Given the description of an element on the screen output the (x, y) to click on. 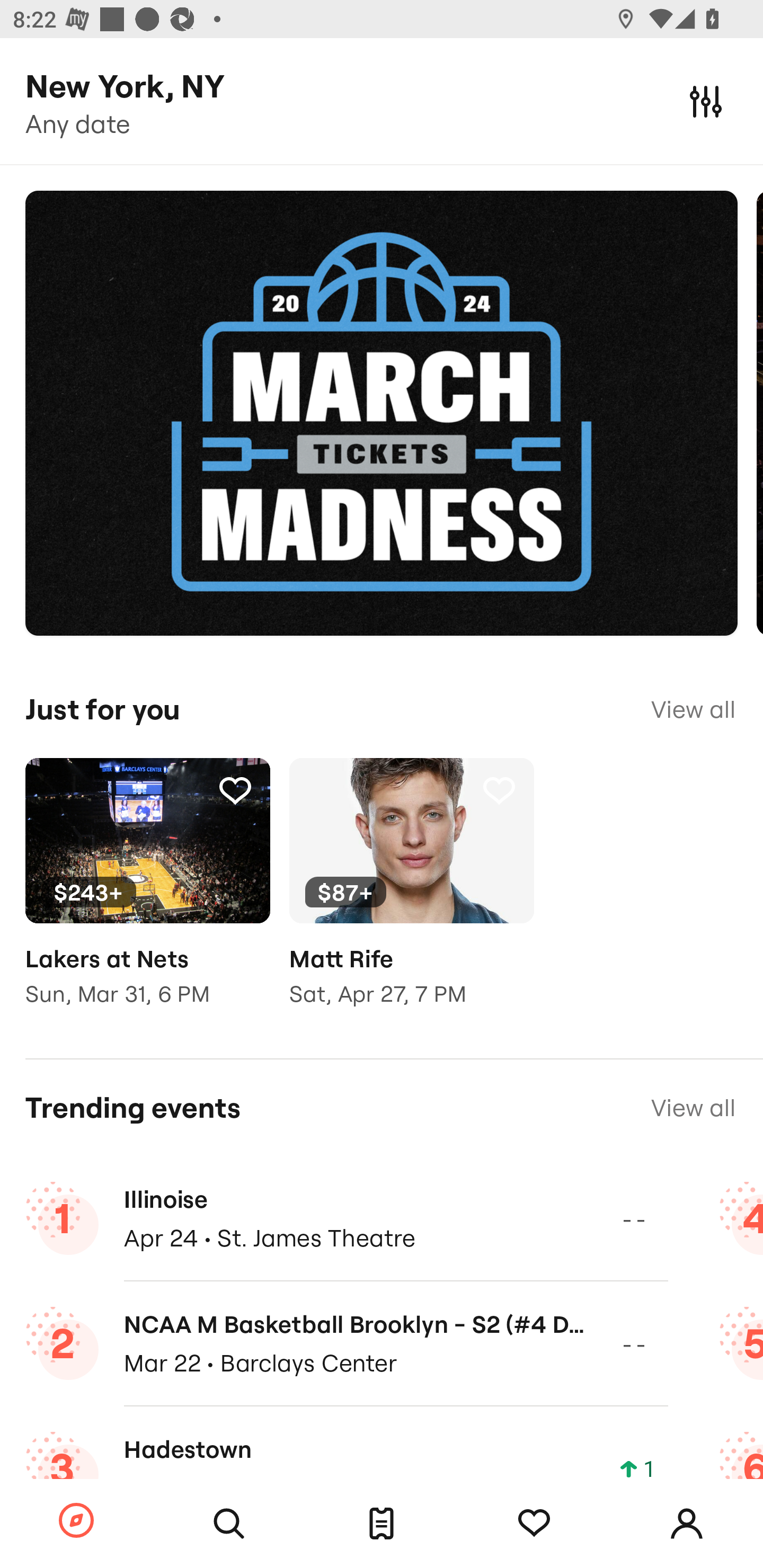
Filters (705, 100)
View all (693, 709)
Tracking $243+ Lakers at Nets Sun, Mar 31, 6 PM (147, 895)
Tracking $87+ Matt Rife Sat, Apr 27, 7 PM (411, 895)
Tracking (234, 790)
Tracking (498, 790)
View all (693, 1108)
Browse (76, 1521)
Search (228, 1523)
Tickets (381, 1523)
Tracking (533, 1523)
Account (686, 1523)
